Given the description of an element on the screen output the (x, y) to click on. 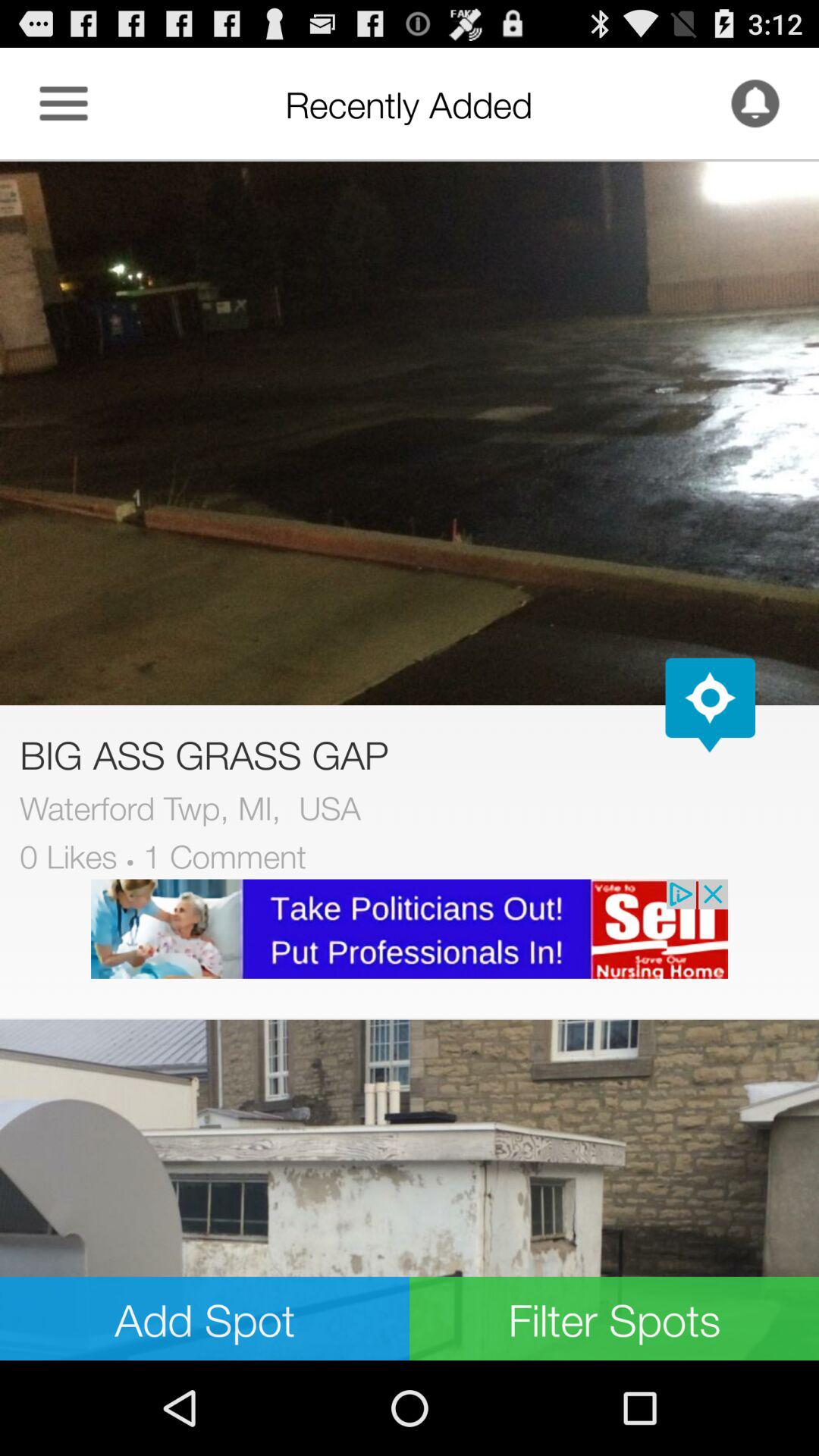
app more relevant option (63, 103)
